Given the description of an element on the screen output the (x, y) to click on. 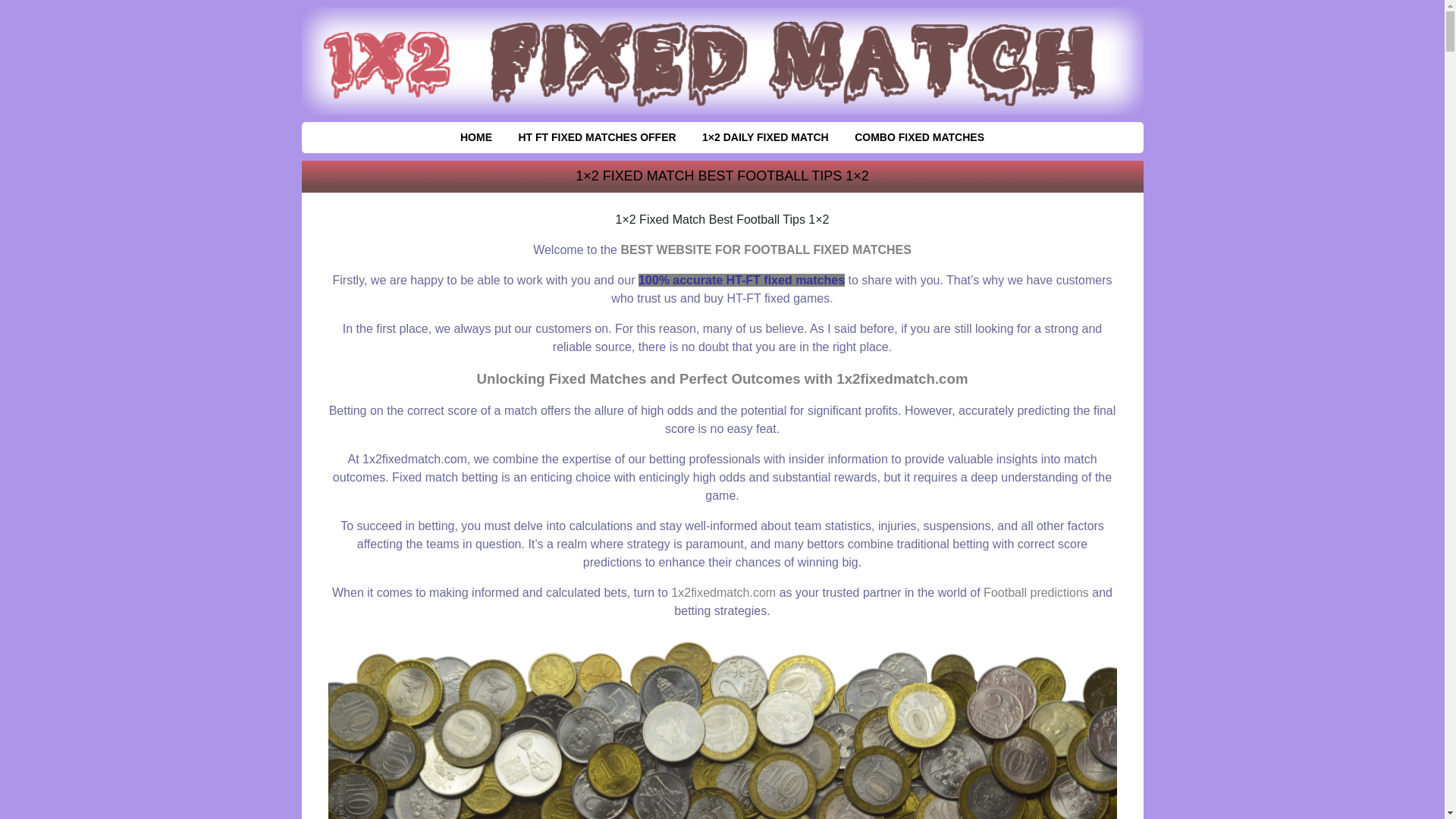
Football predictions Element type: text (1035, 592)
HOME Element type: text (475, 137)
1x2fixedmatch.com Element type: text (723, 592)
COMBO FIXED MATCHES Element type: text (919, 137)
HT FT FIXED MATCHES OFFER Element type: text (596, 137)
100% accurate HT-FT fixed matches Element type: text (741, 279)
